Given the description of an element on the screen output the (x, y) to click on. 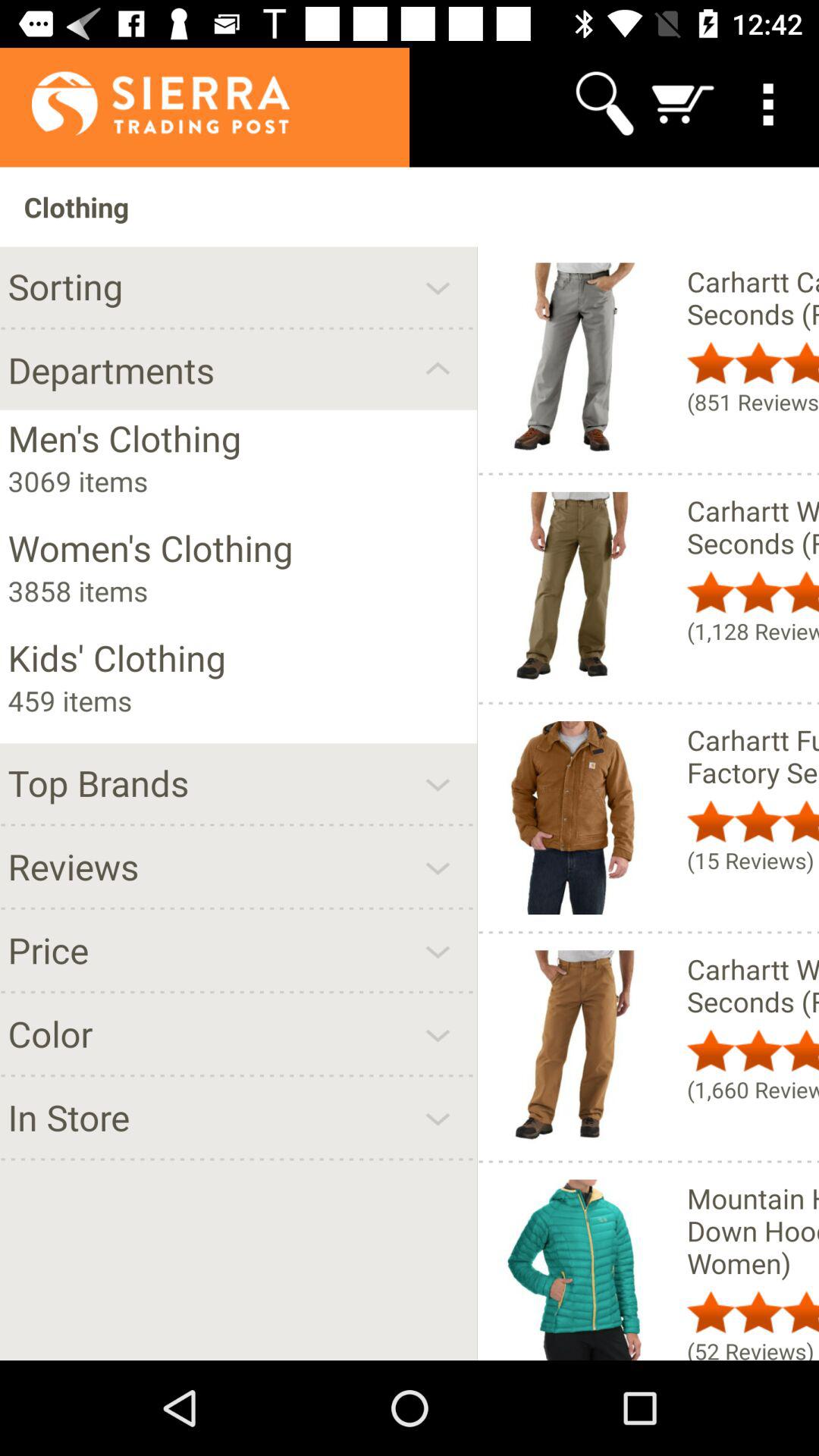
turn on the icon above the clothing icon (683, 103)
